Given the description of an element on the screen output the (x, y) to click on. 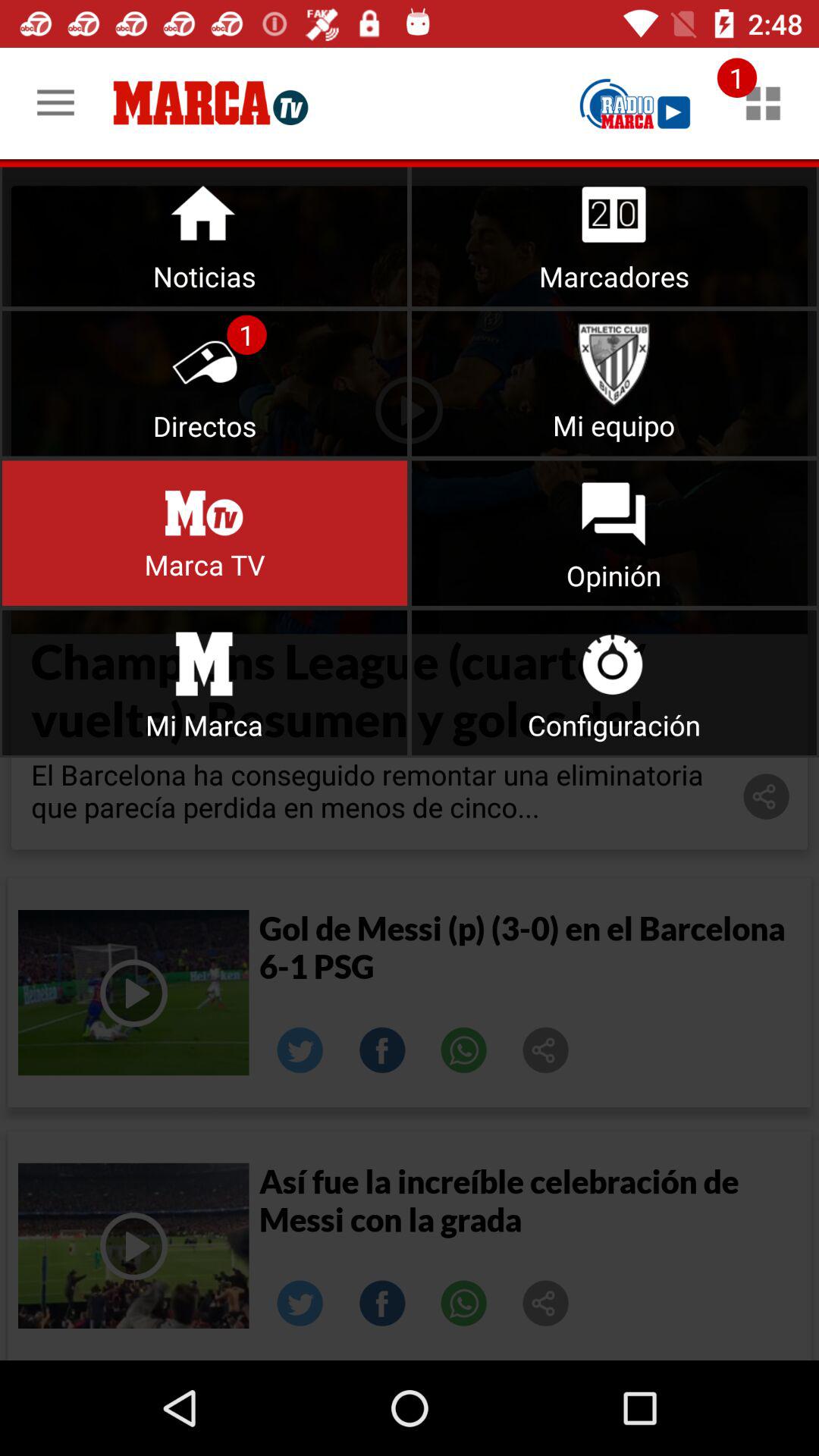
call number (464, 1050)
